Given the description of an element on the screen output the (x, y) to click on. 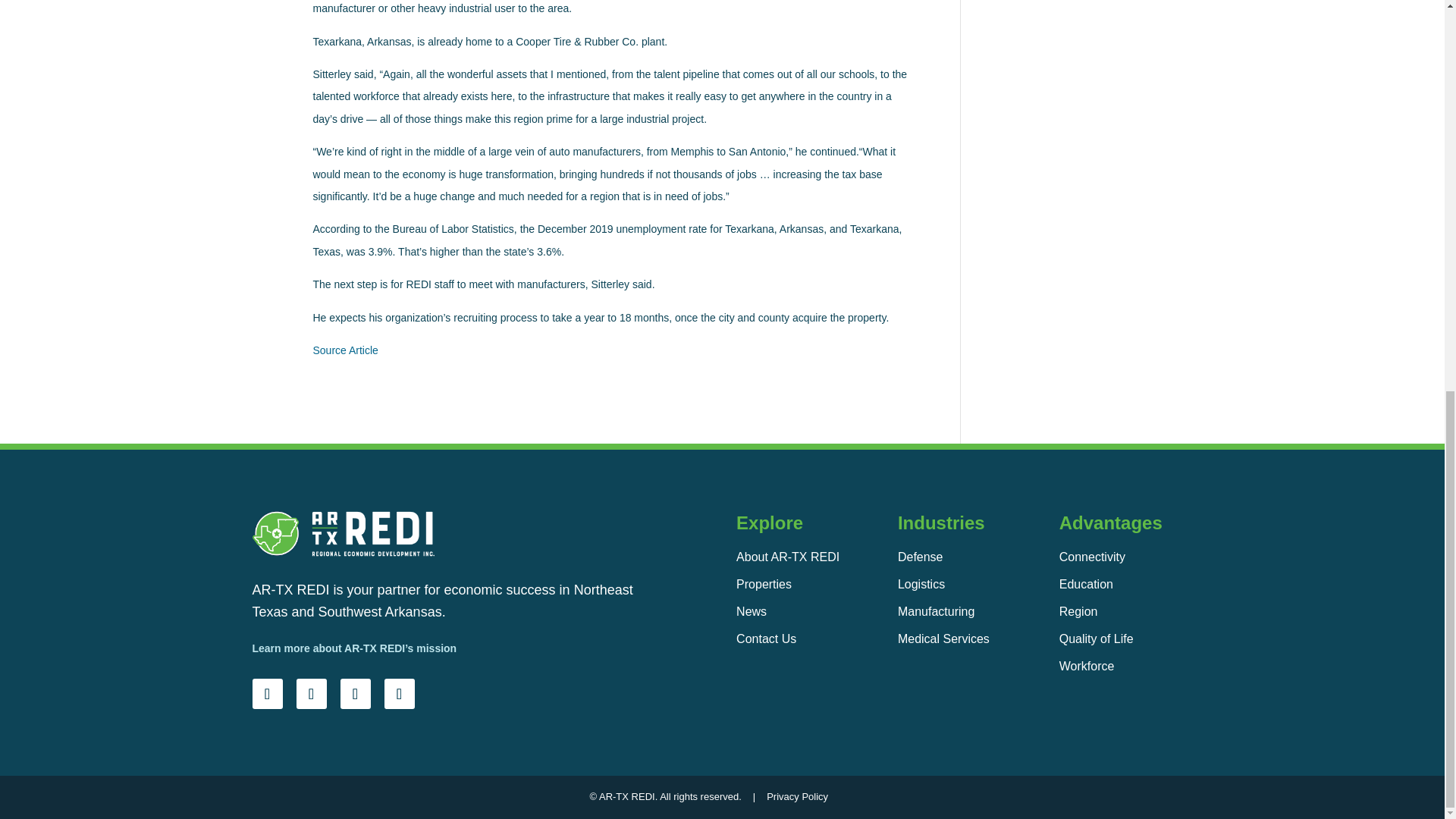
Follow on X (398, 693)
Follow on LinkedIn (266, 693)
Follow on Facebook (310, 693)
Follow on Instagram (354, 693)
AR-TX REDI (342, 533)
